Given the description of an element on the screen output the (x, y) to click on. 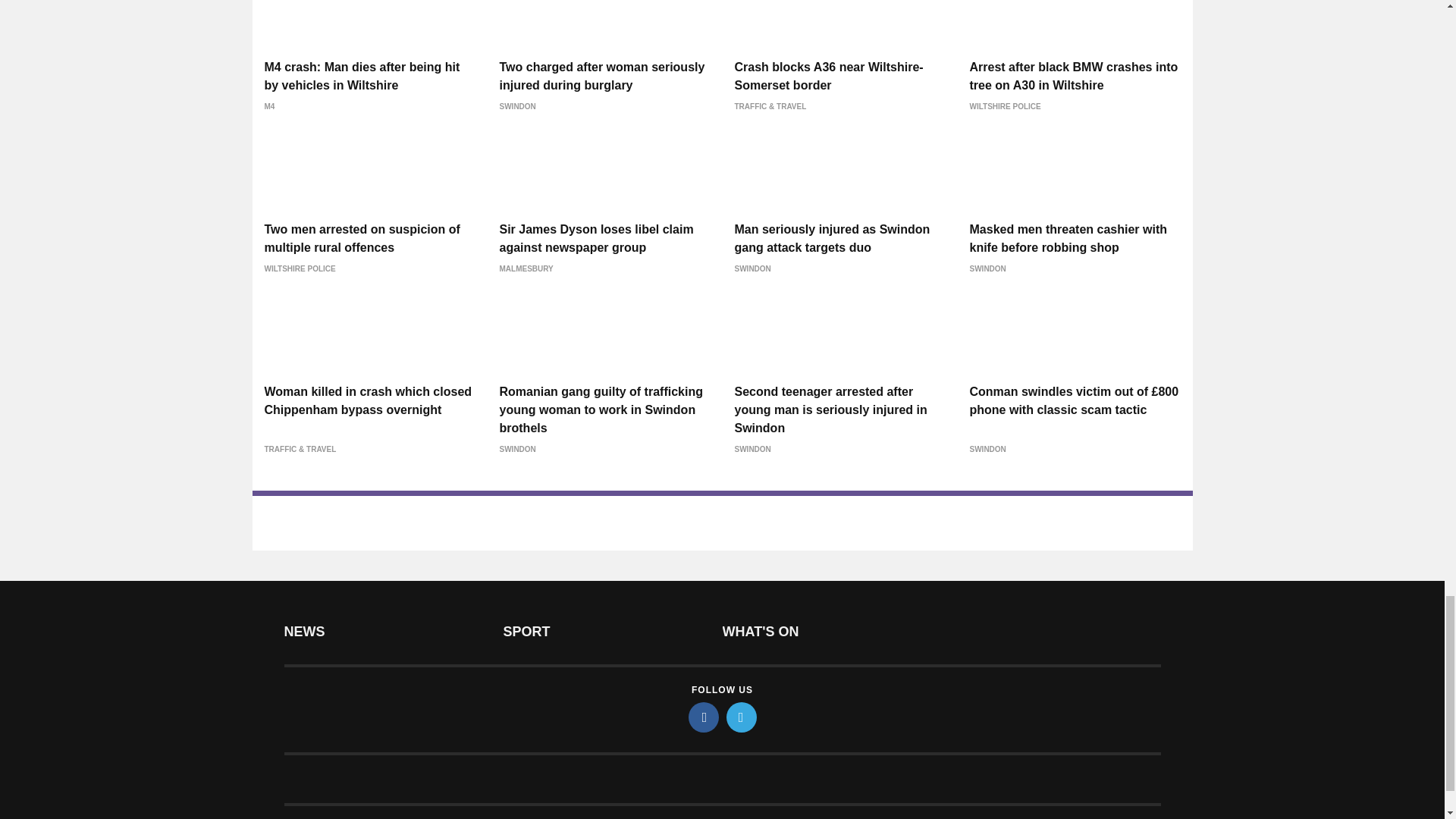
twitter (741, 716)
facebook (703, 716)
